Given the description of an element on the screen output the (x, y) to click on. 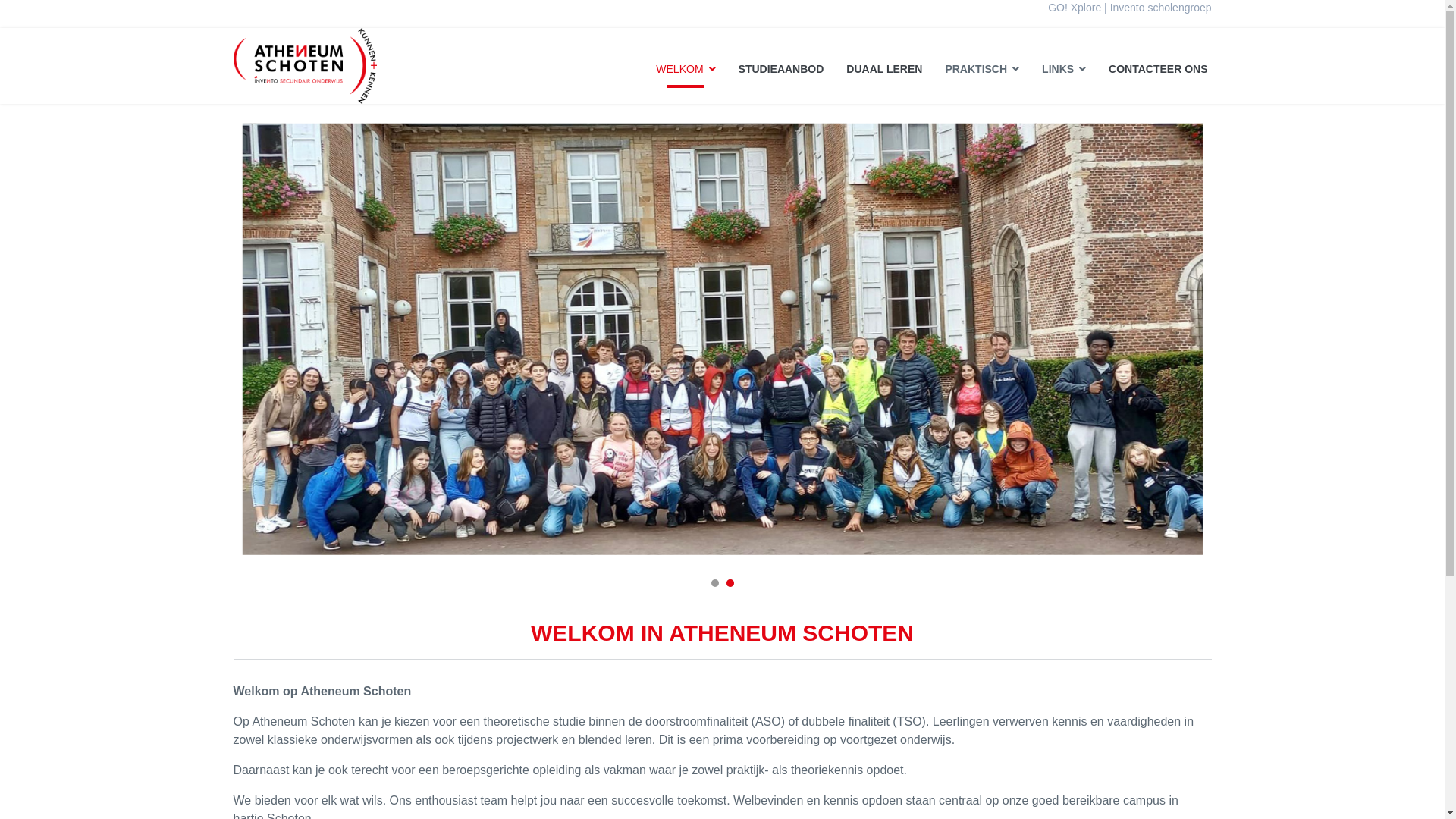
CONTACTEER ONS Element type: text (1152, 67)
GO! Xplore Element type: text (1074, 7)
STUDIEAANBOD Element type: text (781, 67)
WELKOM Element type: text (685, 67)
DUAAL LEREN Element type: text (883, 67)
Invento scholengroep Element type: text (1160, 7)
